Given the description of an element on the screen output the (x, y) to click on. 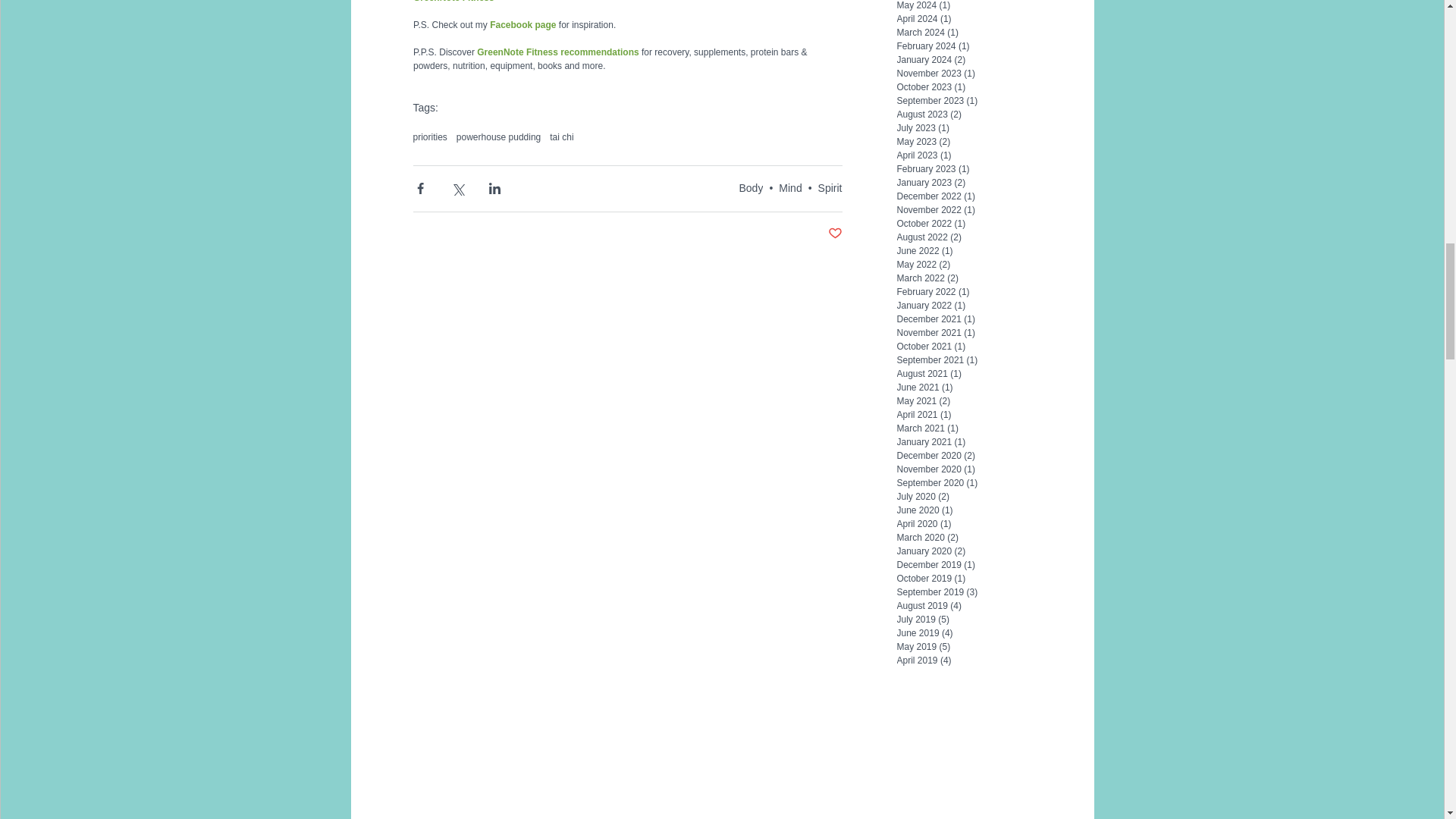
Body (750, 187)
powerhouse pudding (498, 136)
tai chi (561, 136)
Mind (790, 187)
Post not marked as liked (835, 233)
Facebook page (522, 24)
priorities (429, 136)
GreenNote Fitness recommendations (558, 51)
Spirit (830, 187)
GreenNote Fitness (452, 1)
